Given the description of an element on the screen output the (x, y) to click on. 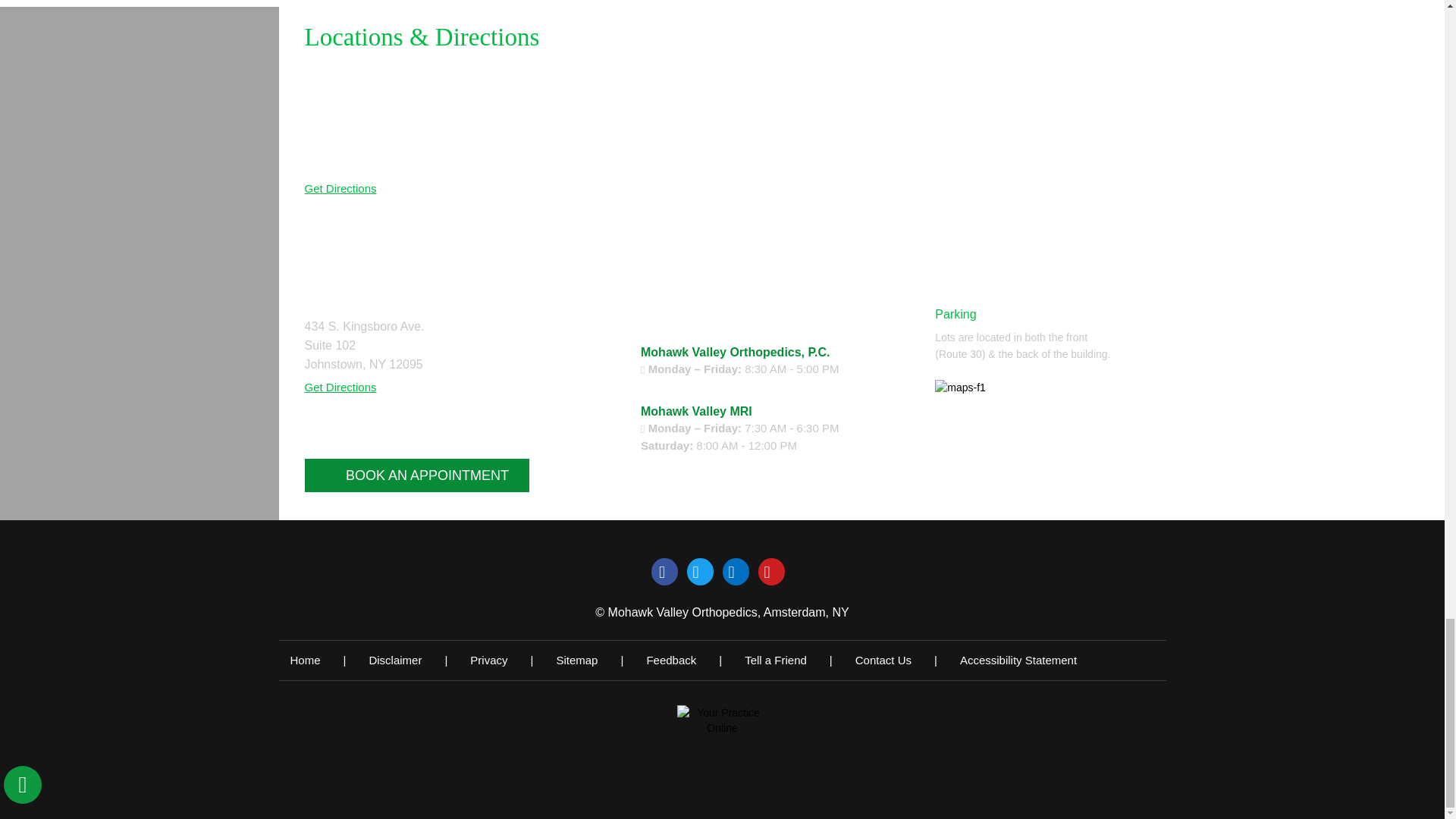
Next Slide (1023, 500)
Previous Slide (979, 500)
